Given the description of an element on the screen output the (x, y) to click on. 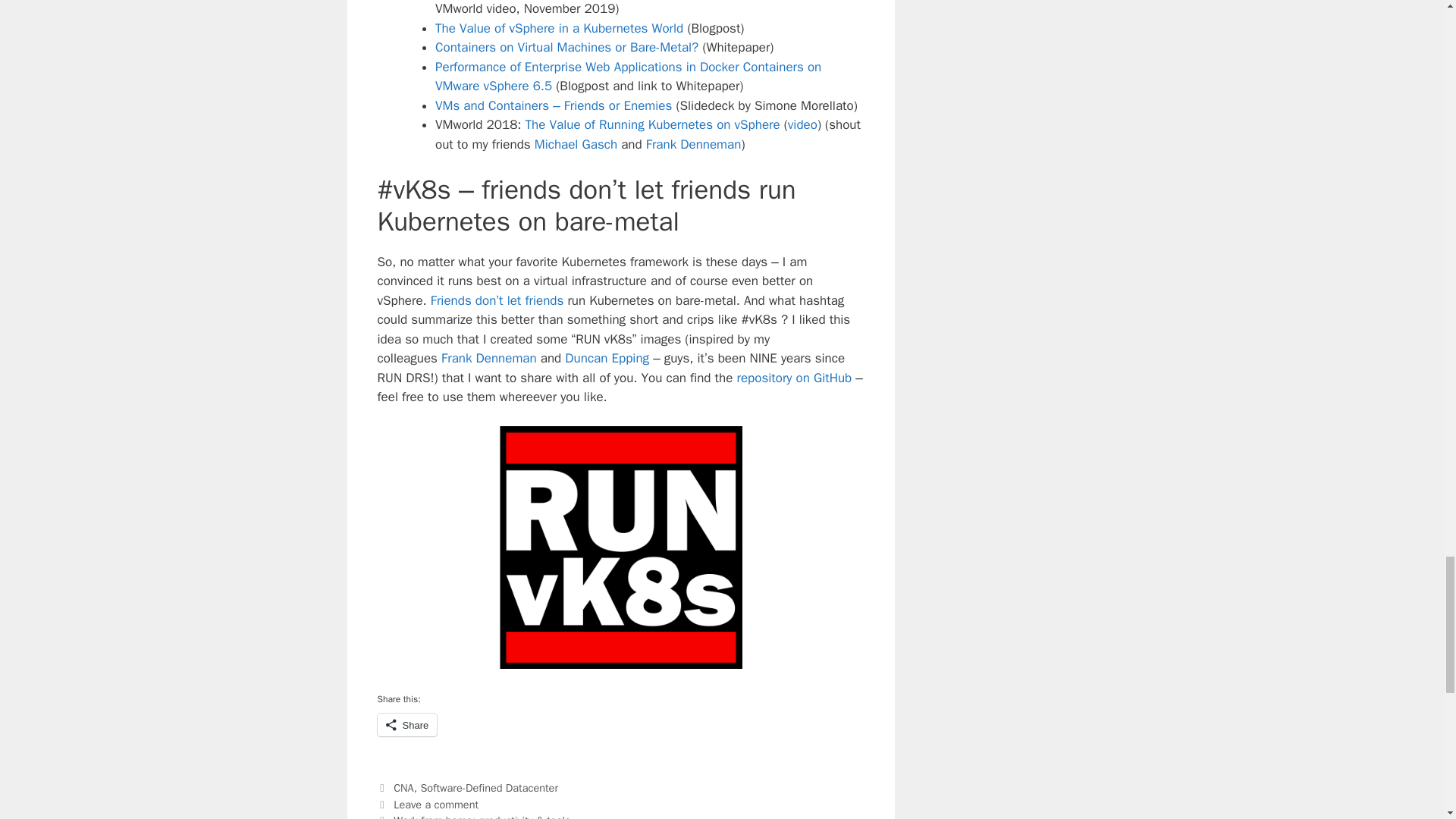
Containers on Virtual Machines or Bare-Metal? (566, 47)
The Value of vSphere in a Kubernetes World (558, 28)
Michael Gasch (575, 144)
video (801, 124)
Share (407, 724)
Software-Defined Datacenter (488, 787)
CNA (403, 787)
The Value of Running Kubernetes on vSphere (652, 124)
Frank Denneman (693, 144)
repository on GitHub (793, 377)
Frank Denneman (489, 358)
Duncan Epping (606, 358)
